Given the description of an element on the screen output the (x, y) to click on. 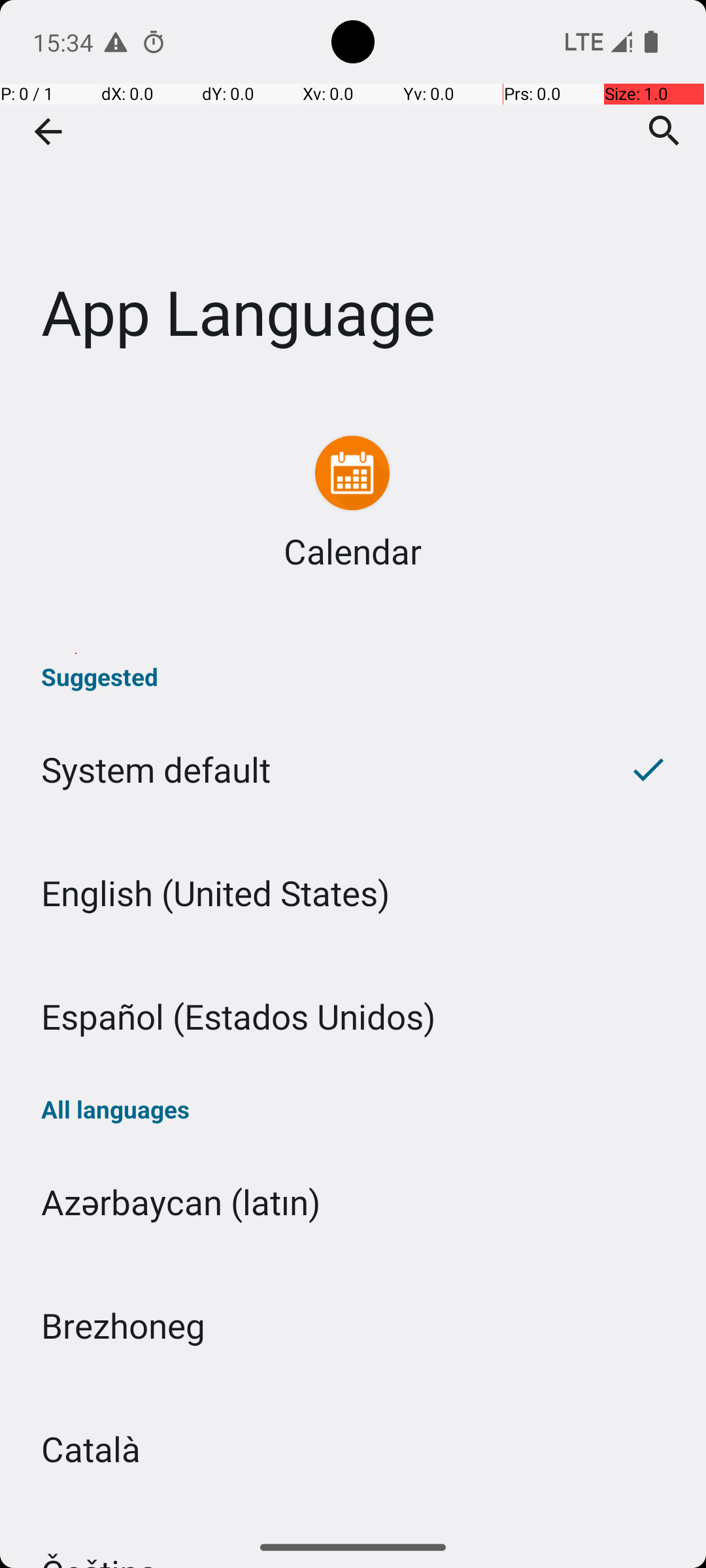
App Language Element type: android.widget.FrameLayout (353, 195)
Suggested Element type: android.widget.TextView (353, 676)
English (United States) Element type: android.widget.TextView (353, 892)
Español (Estados Unidos) Element type: android.widget.TextView (353, 1016)
All languages Element type: android.widget.TextView (353, 1109)
Azərbaycan (latın) Element type: android.widget.TextView (353, 1201)
Brezhoneg Element type: android.widget.TextView (353, 1325)
Català Element type: android.widget.TextView (353, 1448)
Čeština Element type: android.widget.TextView (353, 1518)
System default Element type: android.widget.TextView (295, 769)
